Given the description of an element on the screen output the (x, y) to click on. 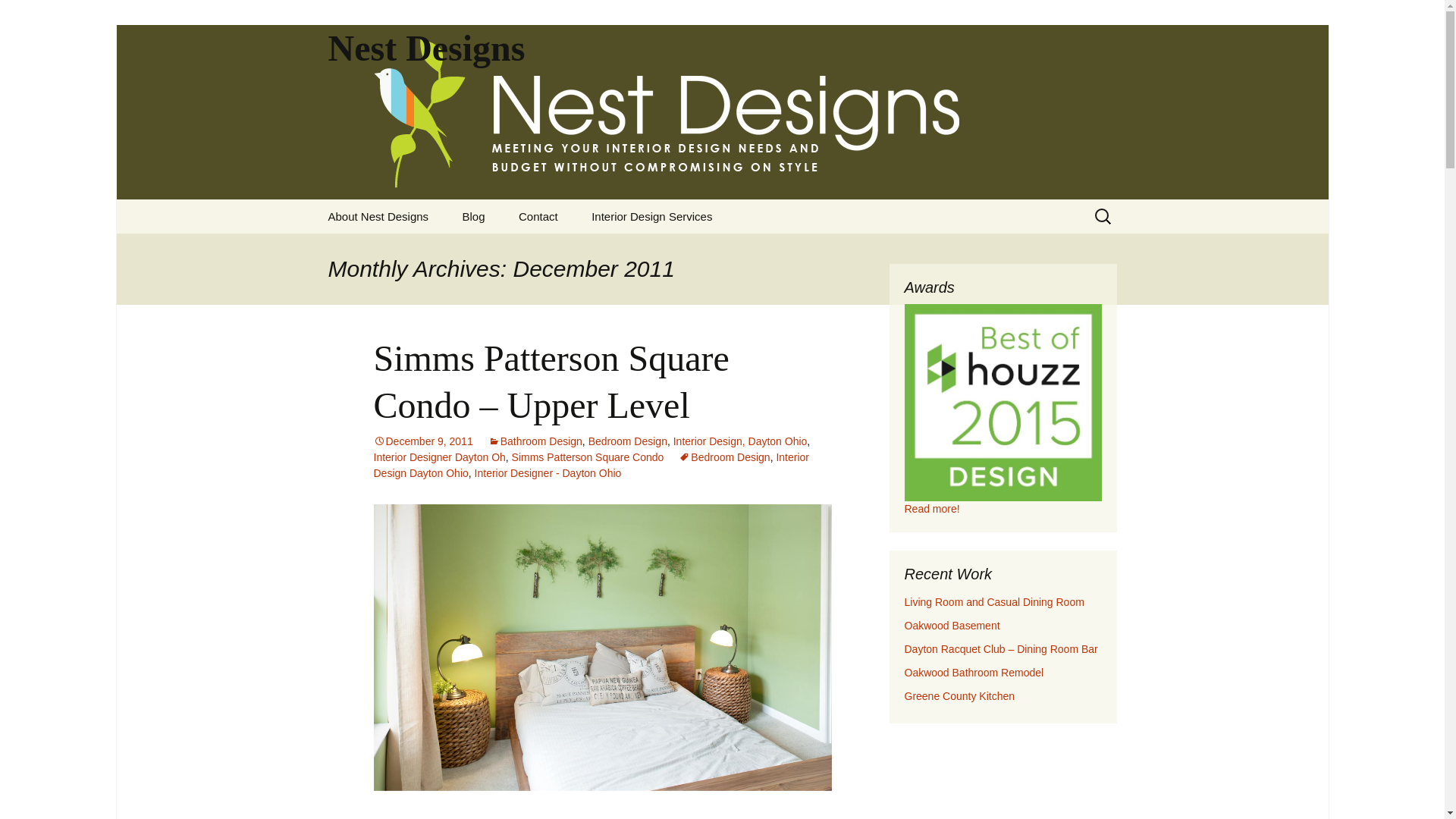
Interior Designer - Dayton Ohio (547, 472)
Search (18, 15)
Blog (473, 216)
About Nest Designs (378, 216)
Bathroom Design (534, 440)
link to Press release (931, 508)
Interior Designer Dayton Oh (438, 457)
Interior Design, Dayton Ohio (740, 440)
